Given the description of an element on the screen output the (x, y) to click on. 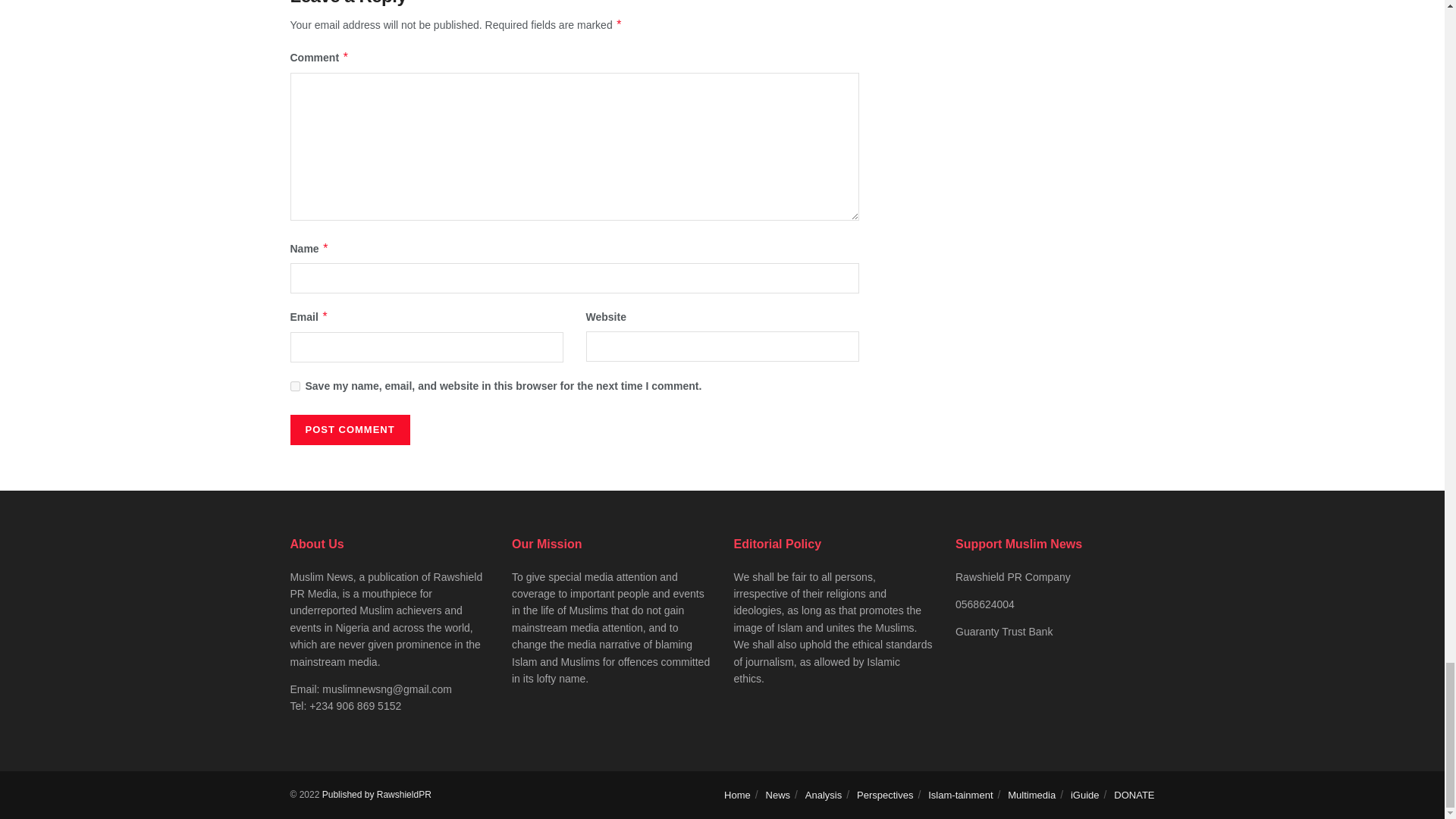
yes (294, 386)
Post Comment (349, 429)
Published by RawshieldPR (375, 794)
